Given the description of an element on the screen output the (x, y) to click on. 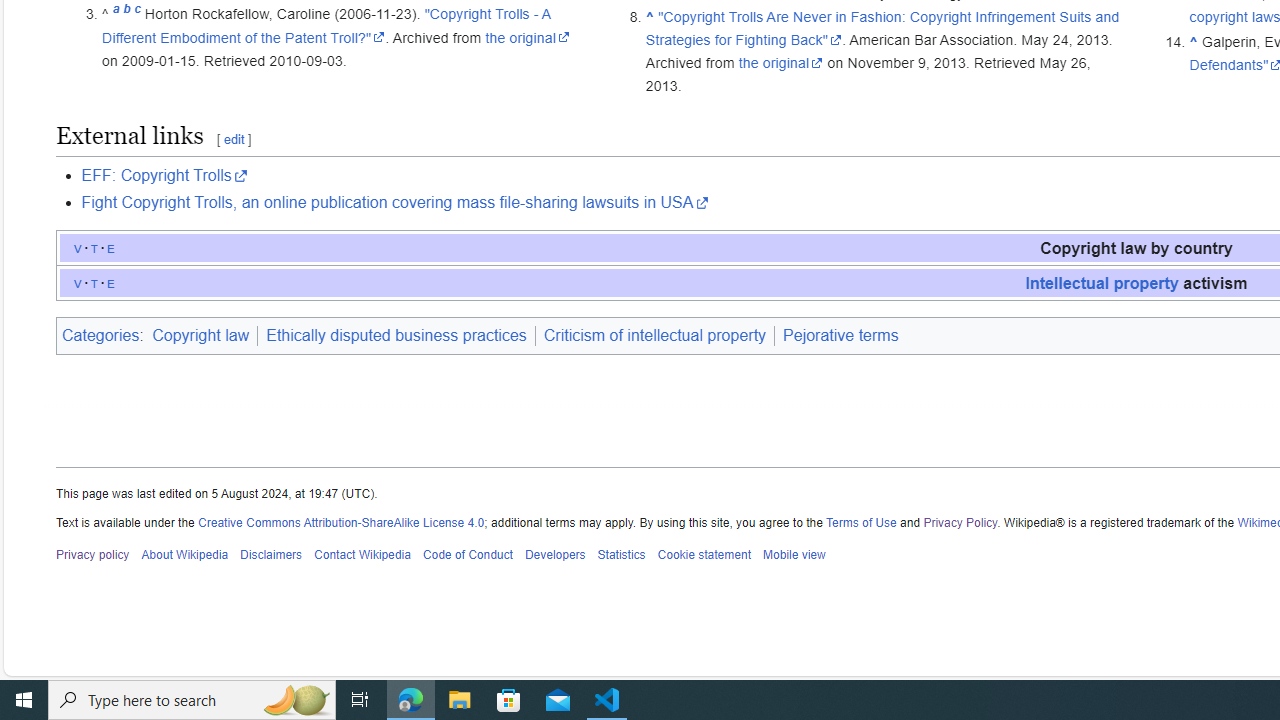
Disclaimers (271, 555)
Jump up to: a (116, 14)
e (111, 282)
Mobile view (793, 555)
